Given the description of an element on the screen output the (x, y) to click on. 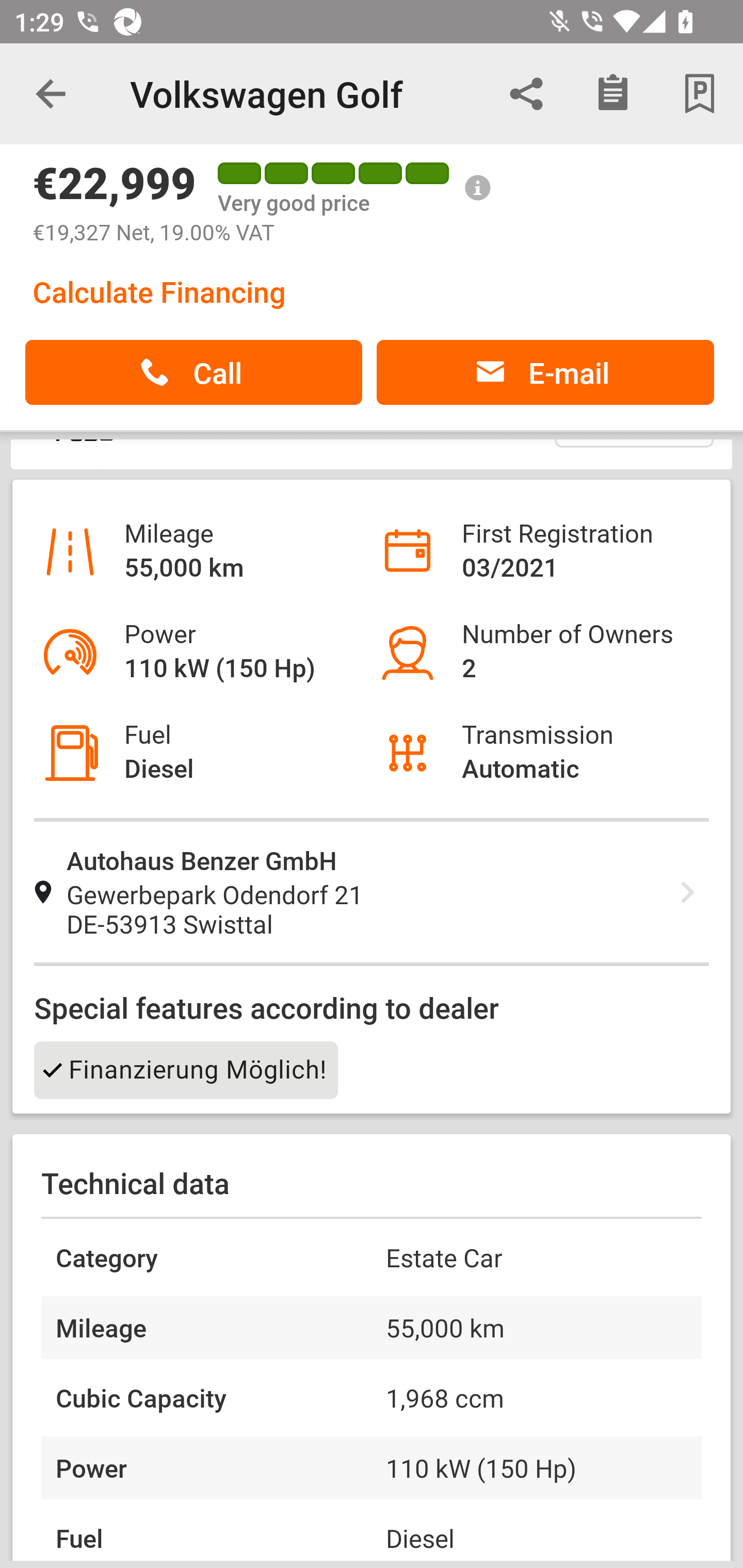
Navigate up (50, 93)
Share via (525, 93)
Checklist (612, 93)
Park (699, 93)
Calculate Financing (159, 291)
Call (193, 372)
E-mail (545, 372)
